Given the description of an element on the screen output the (x, y) to click on. 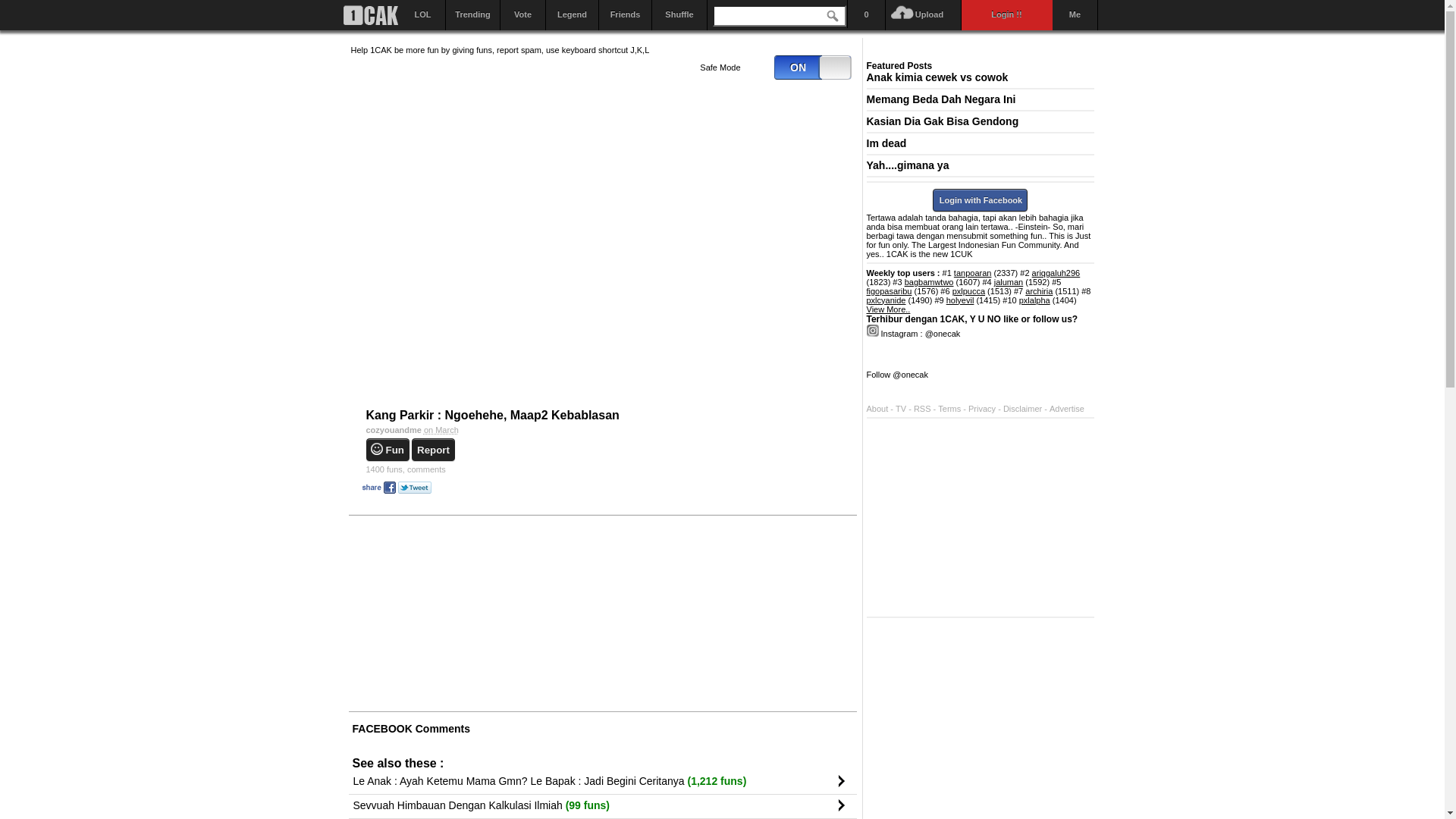
ariqgaluh296 Element type: text (1056, 272)
Fun Element type: text (386, 449)
Advertisement Element type: hover (463, 612)
About Element type: text (877, 407)
Login !! Element type: text (1006, 15)
Shuffle Element type: text (679, 15)
View More.. Element type: text (888, 308)
cozyouandme Element type: text (394, 429)
0 Element type: text (811, 67)
Advertisement Element type: hover (739, 612)
pxlpucca Element type: text (968, 290)
Advertise Element type: text (1066, 407)
Im dead Element type: text (886, 143)
pxlcyanide Element type: text (885, 299)
Trending Element type: text (472, 15)
LOL Element type: text (422, 15)
pxlalpha Element type: text (1034, 299)
Privacy Element type: text (982, 407)
  Element type: text (369, 15)
Upload Element type: text (923, 15)
bagbamwtwo Element type: text (928, 281)
Vote Element type: text (523, 15)
RSS Element type: text (922, 407)
Report Element type: text (433, 449)
holyevil Element type: text (960, 299)
Legend Element type: text (572, 15)
Anak kimia cewek vs cowok Element type: text (936, 77)
0 Element type: text (866, 15)
Sevvuah Himbauan Dengan Kalkulasi Ilmiah (99 funs) Element type: text (590, 805)
Follow @onecak Element type: text (896, 374)
Terms Element type: text (950, 407)
Friends Element type: text (625, 15)
tanpoaran Element type: text (972, 272)
Yah....gimana ya Element type: text (907, 165)
Memang Beda Dah Negara Ini Element type: text (940, 99)
Advertisement Element type: hover (979, 517)
jaluman Element type: text (1008, 281)
archiria Element type: text (1038, 290)
Me Element type: text (1075, 15)
TV Element type: text (900, 407)
1400 funs, comments Element type: text (609, 468)
figopasaribu Element type: text (888, 290)
Disclaimer Element type: text (1023, 407)
Kasian Dia Gak Bisa Gendong Element type: text (942, 121)
Login with Facebook Element type: text (979, 199)
